Given the description of an element on the screen output the (x, y) to click on. 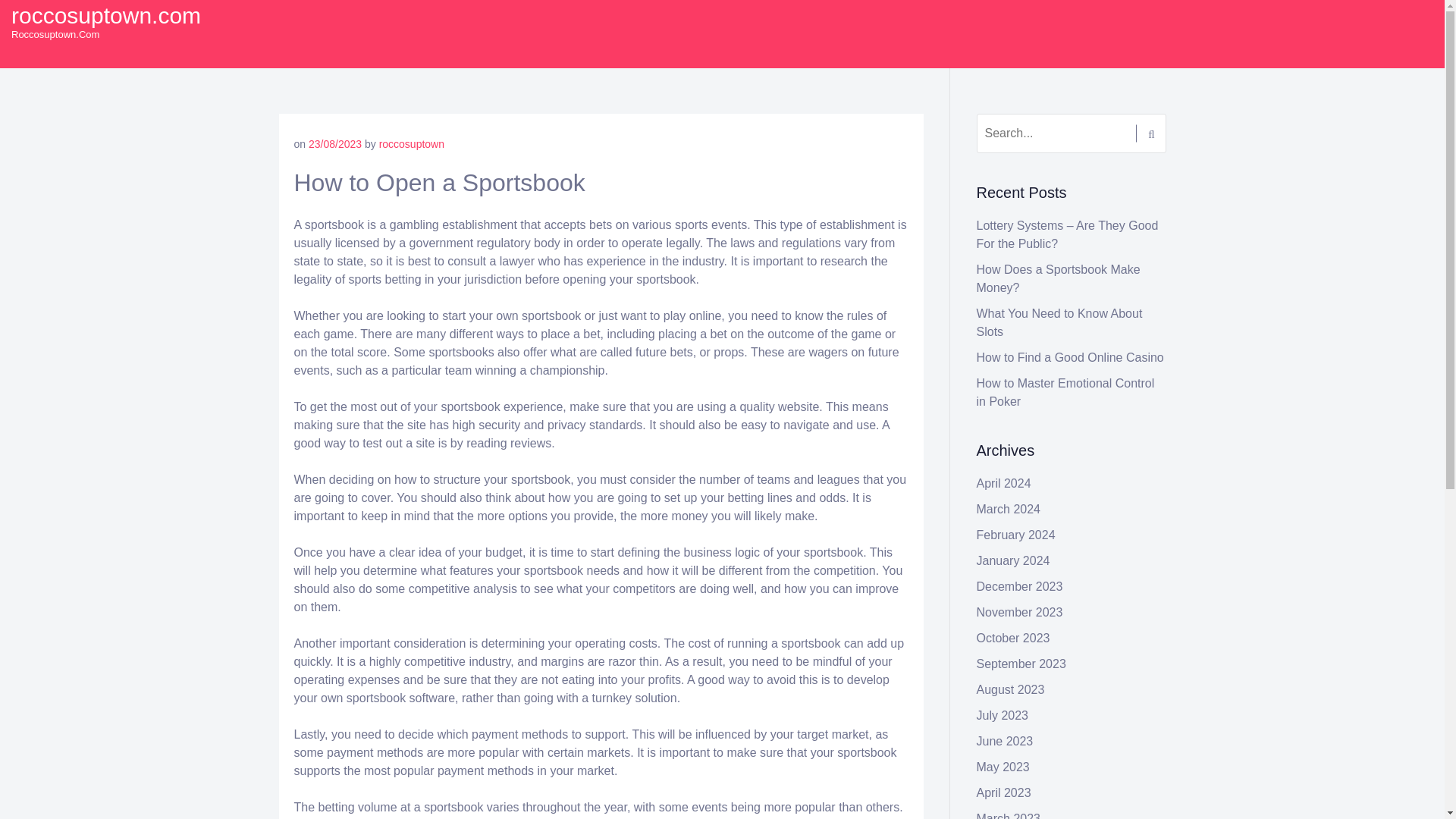
October 2023 (1012, 637)
February 2024 (1015, 534)
April 2024 (1003, 482)
September 2023 (1020, 663)
July 2023 (1002, 715)
December 2023 (1019, 585)
August 2023 (1010, 689)
How Does a Sportsbook Make Money? (1058, 278)
March 2023 (1008, 815)
What You Need to Know About Slots (1059, 322)
